Given the description of an element on the screen output the (x, y) to click on. 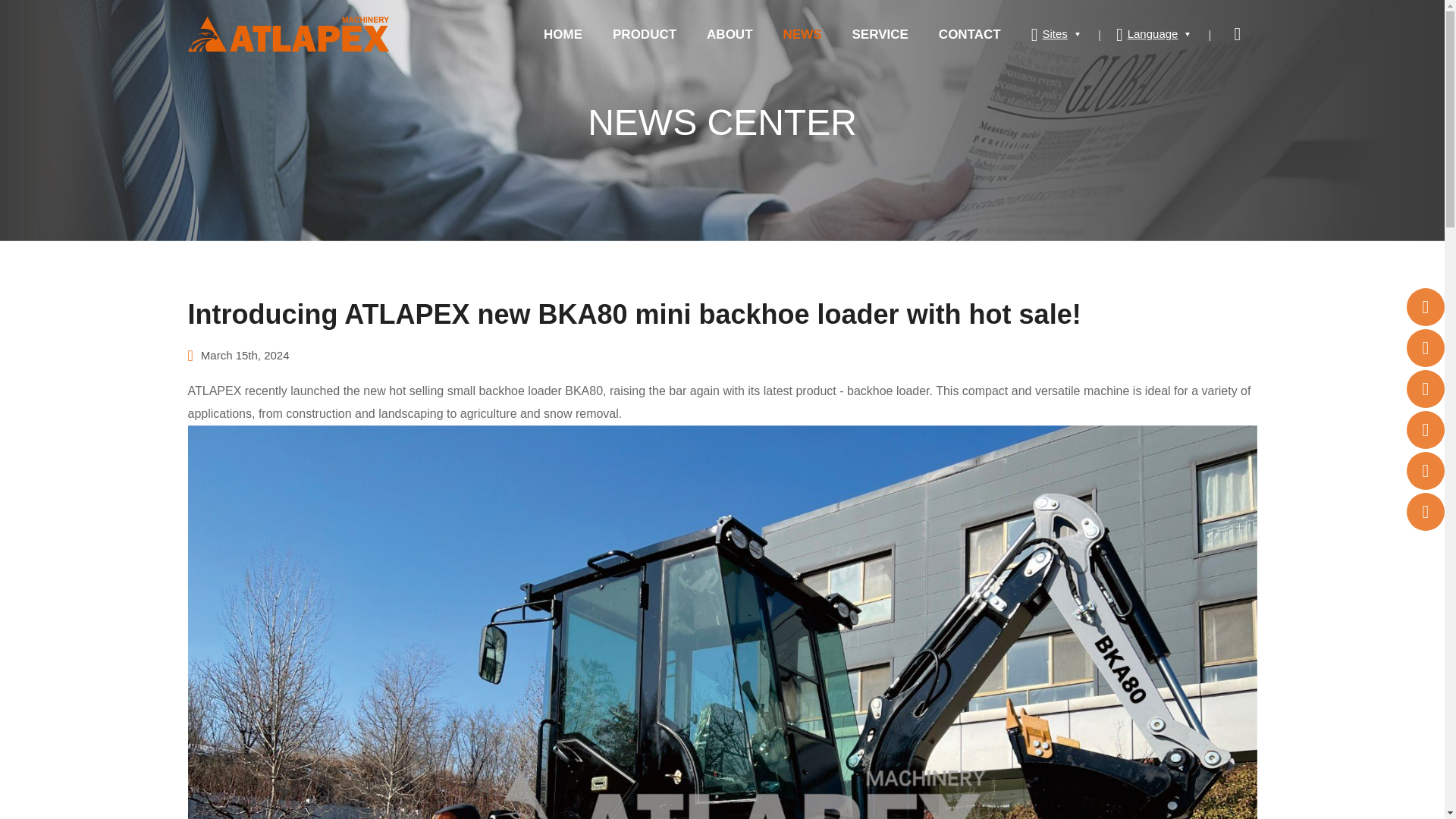
PRODUCT (643, 34)
HOME (562, 34)
